Given the description of an element on the screen output the (x, y) to click on. 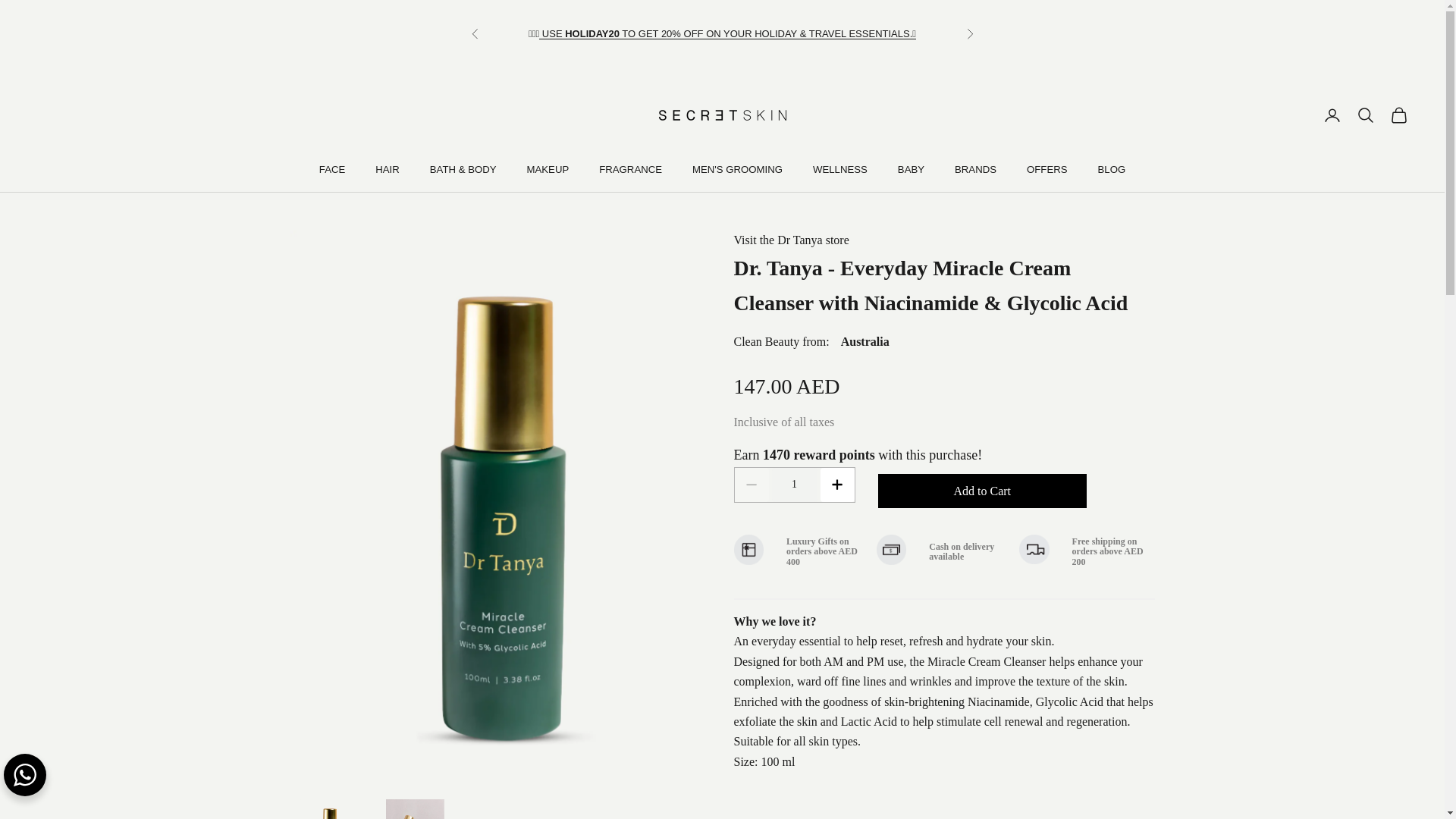
Secret Skin (722, 115)
1 (793, 484)
